Given the description of an element on the screen output the (x, y) to click on. 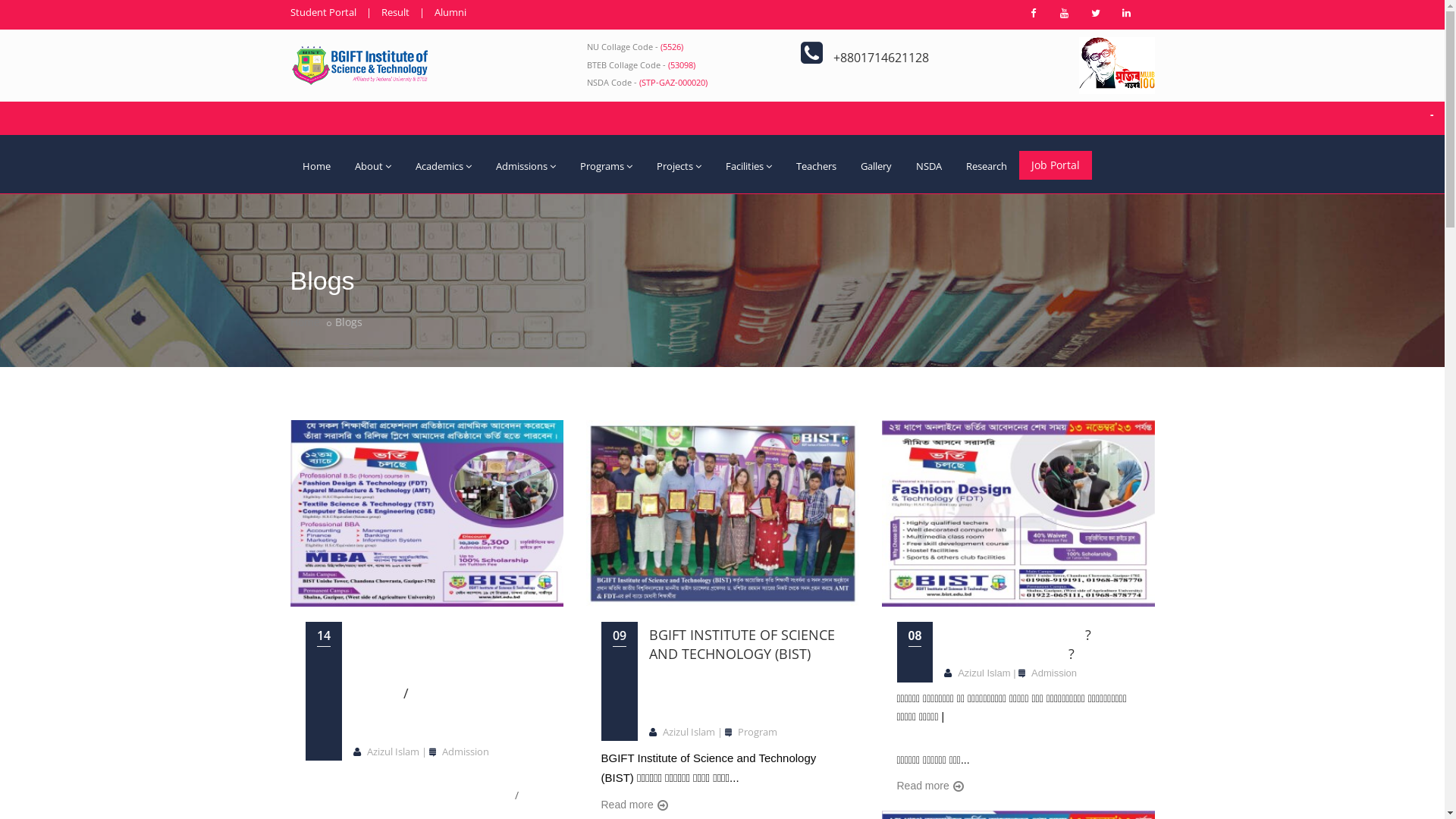
Gallery Element type: text (875, 166)
Research Element type: text (986, 166)
Alumni Element type: text (449, 11)
NSDA Element type: text (928, 166)
Home Element type: text (315, 166)
Teachers Element type: text (816, 166)
Facilities Element type: text (747, 166)
Read more Element type: text (633, 804)
About Element type: text (372, 166)
Job Portal Element type: text (1055, 164)
Academics Element type: text (443, 166)
Home Element type: text (304, 321)
Admissions Element type: text (525, 166)
Result Element type: text (394, 11)
Read more Element type: text (929, 785)
Projects Element type: text (678, 166)
Programs Element type: text (605, 166)
Student Portal Element type: text (322, 11)
